Given the description of an element on the screen output the (x, y) to click on. 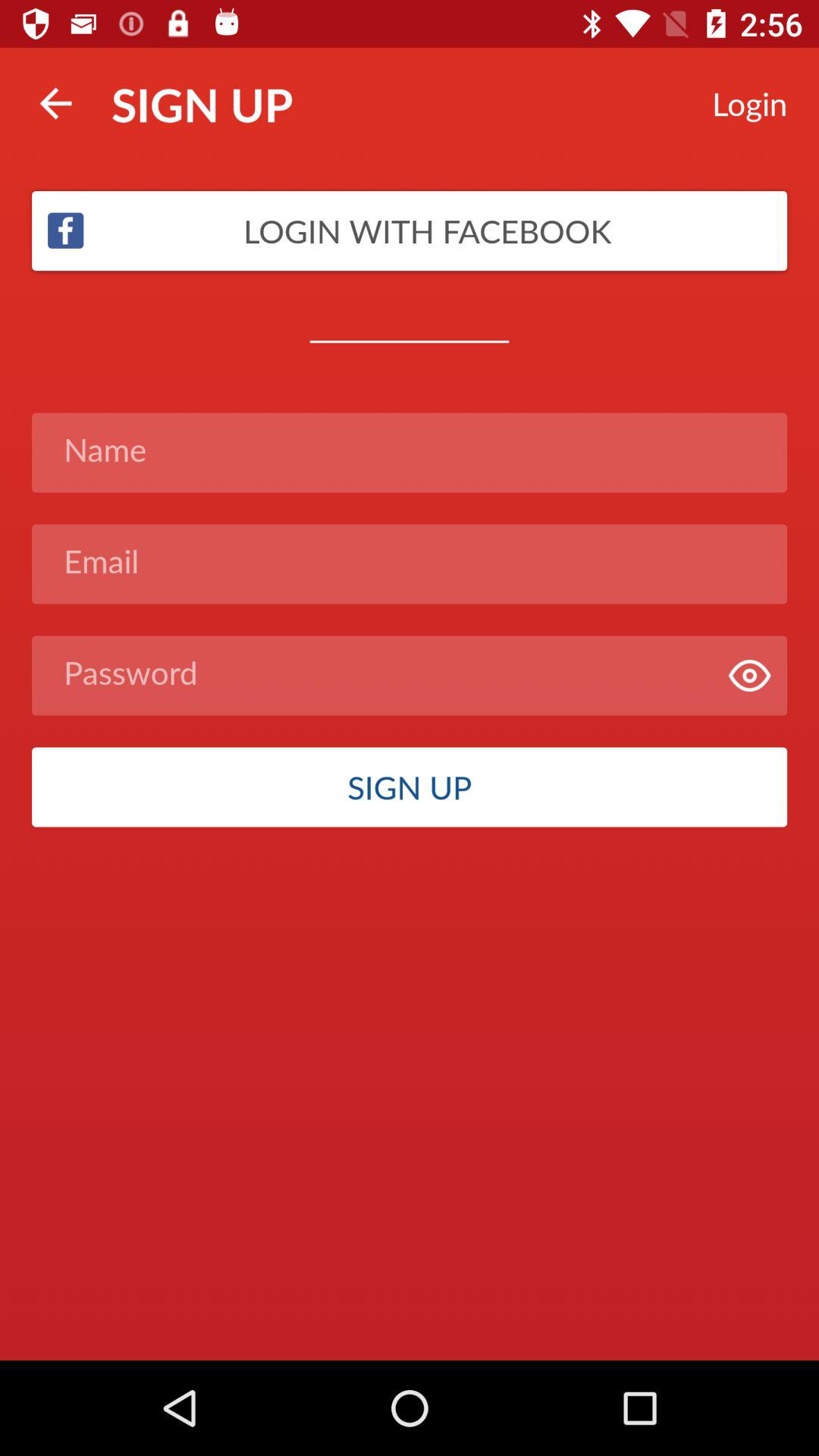
choose item below login (409, 230)
